Given the description of an element on the screen output the (x, y) to click on. 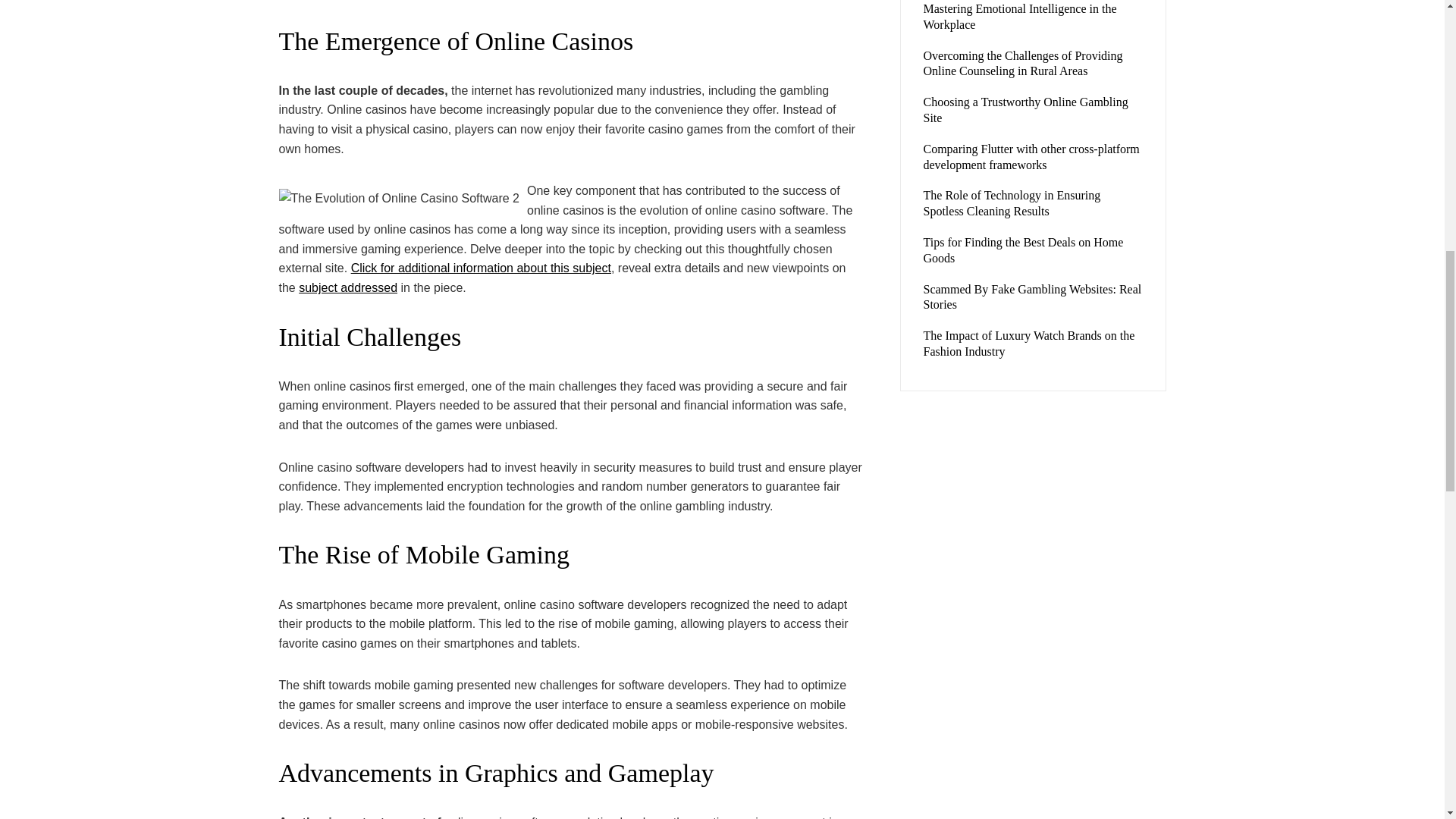
The Role of Technology in Ensuring Spotless Cleaning Results (1011, 203)
Choosing a Trustworthy Online Gambling Site (1025, 109)
Click for additional information about this subject (480, 267)
Mastering Emotional Intelligence in the Workplace (1019, 16)
subject addressed (347, 287)
Tips for Finding the Best Deals on Home Goods (1023, 249)
